Given the description of an element on the screen output the (x, y) to click on. 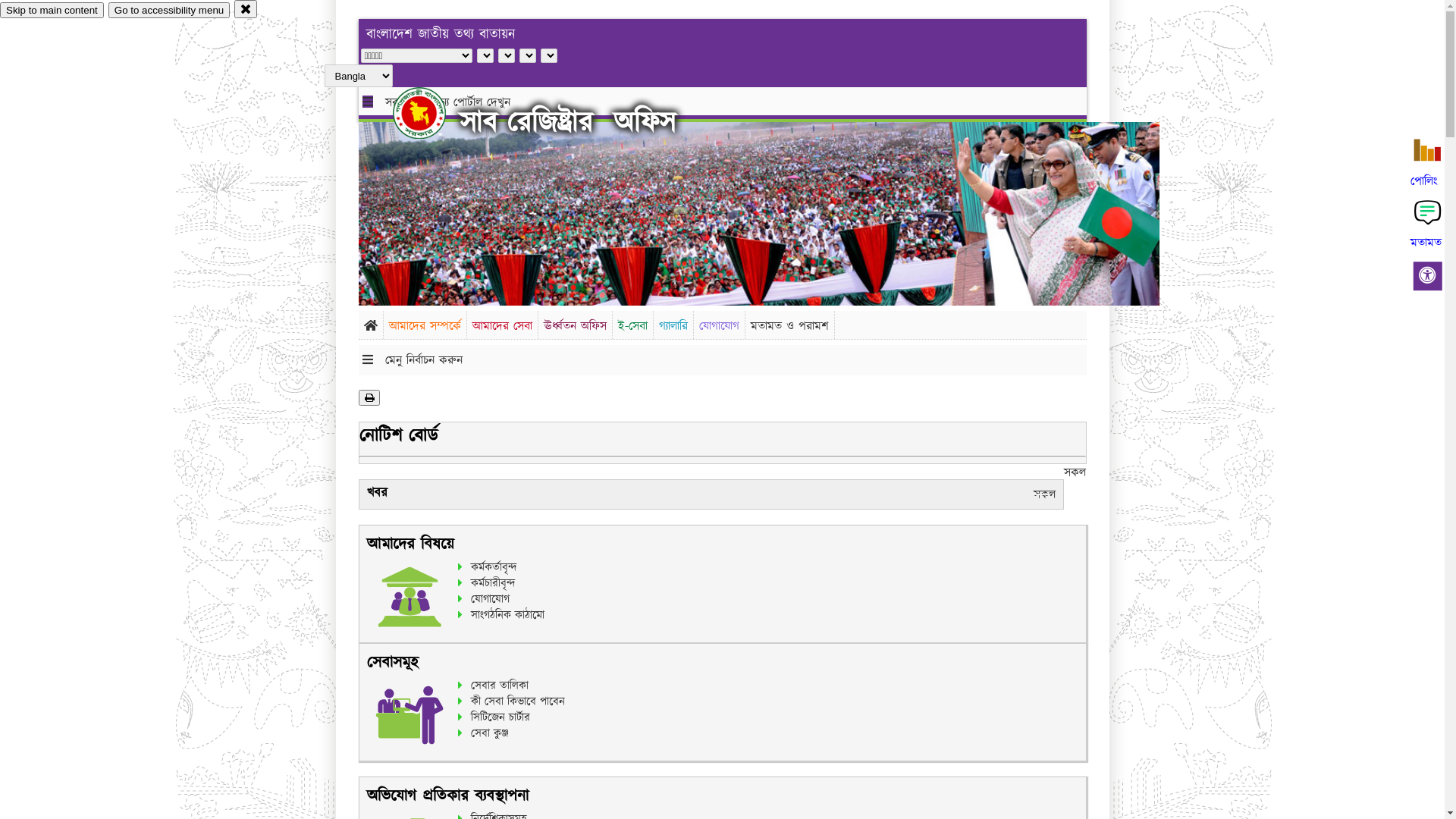
close Element type: hover (245, 9)
Skip to main content Element type: text (51, 10)

                
             Element type: hover (431, 112)
Go to accessibility menu Element type: text (168, 10)
